Given the description of an element on the screen output the (x, y) to click on. 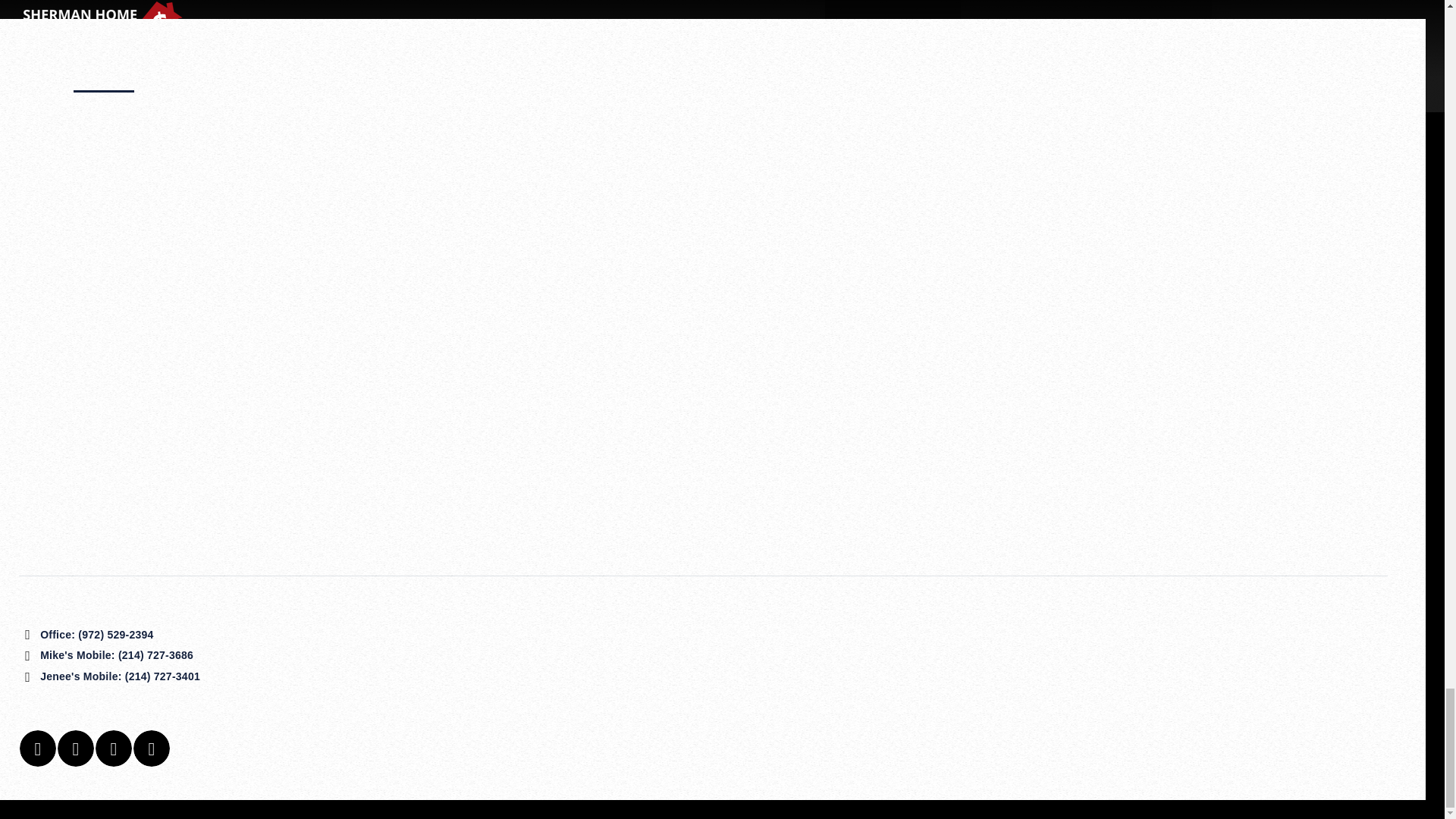
Askins Realty Group, LLC, Real Estate, Anna, TX (1196, 677)
